Given the description of an element on the screen output the (x, y) to click on. 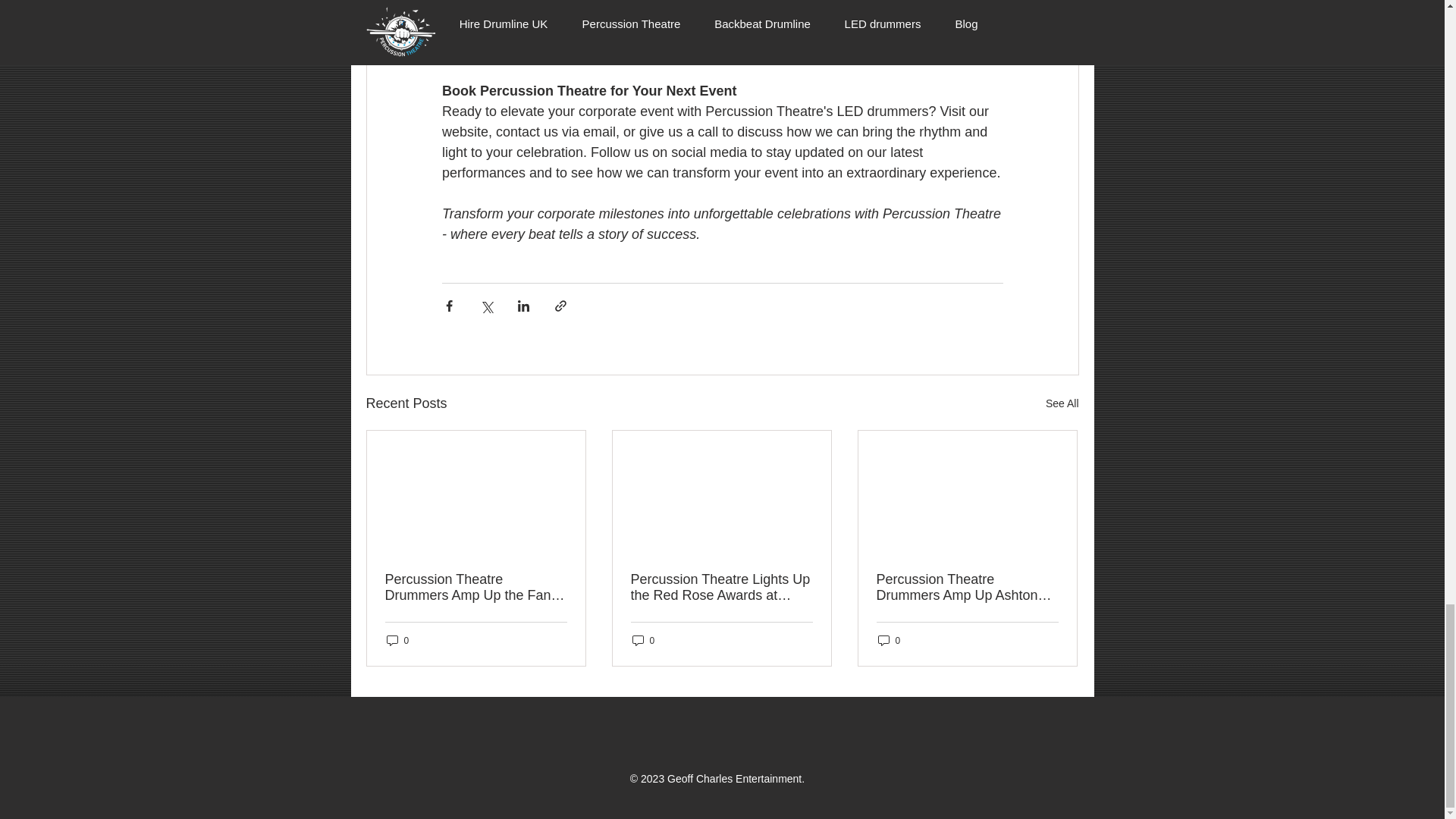
0 (643, 640)
0 (889, 640)
0 (397, 640)
See All (1061, 403)
